Given the description of an element on the screen output the (x, y) to click on. 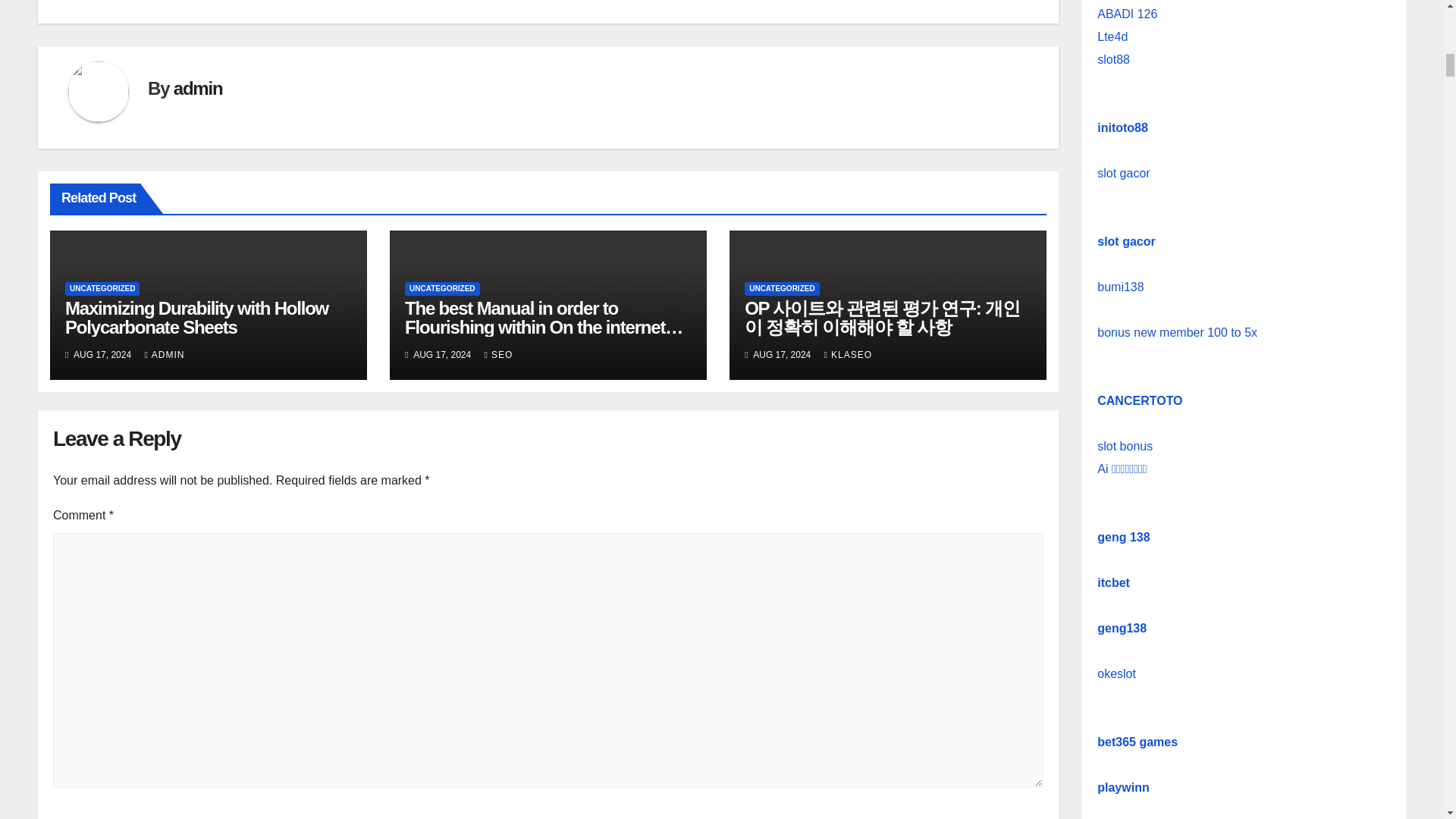
admin (197, 87)
UNCATEGORIZED (102, 288)
Maximizing Durability with Hollow Polycarbonate Sheets (197, 317)
SEO (498, 354)
UNCATEGORIZED (441, 288)
KLASEO (848, 354)
ADMIN (164, 354)
UNCATEGORIZED (781, 288)
